Given the description of an element on the screen output the (x, y) to click on. 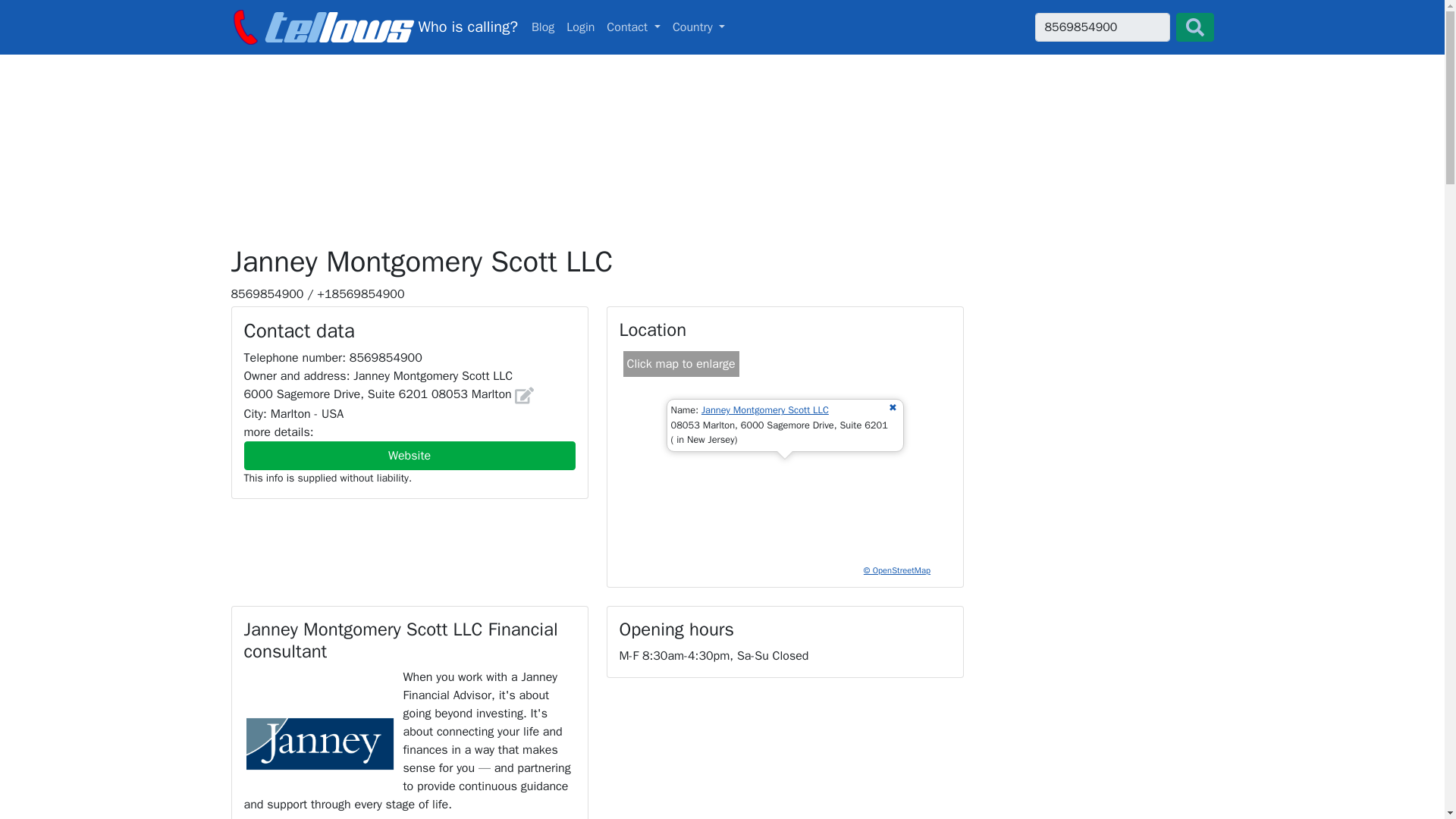
Blog (542, 27)
Website (409, 455)
Who is calling? (373, 26)
Login (579, 27)
Blog (722, 26)
close (542, 27)
Contact (892, 408)
Country (632, 27)
Janney Montgomery Scott LLC (699, 27)
tellows - the community for calls, phone spam and complaints (764, 410)
8569854900 (373, 26)
